Given the description of an element on the screen output the (x, y) to click on. 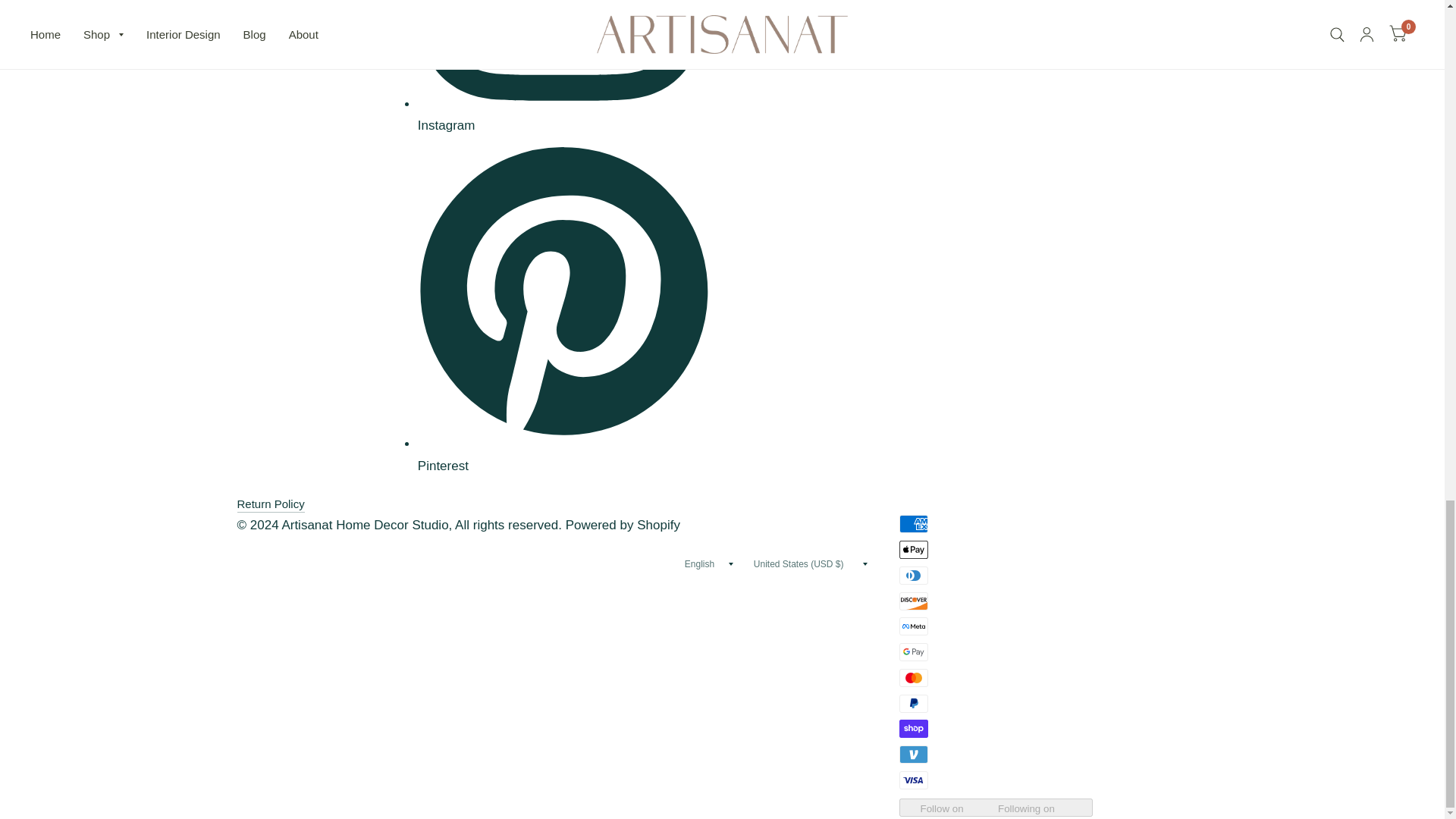
Apple Pay (913, 549)
American Express (913, 524)
Diners Club (913, 575)
